Given the description of an element on the screen output the (x, y) to click on. 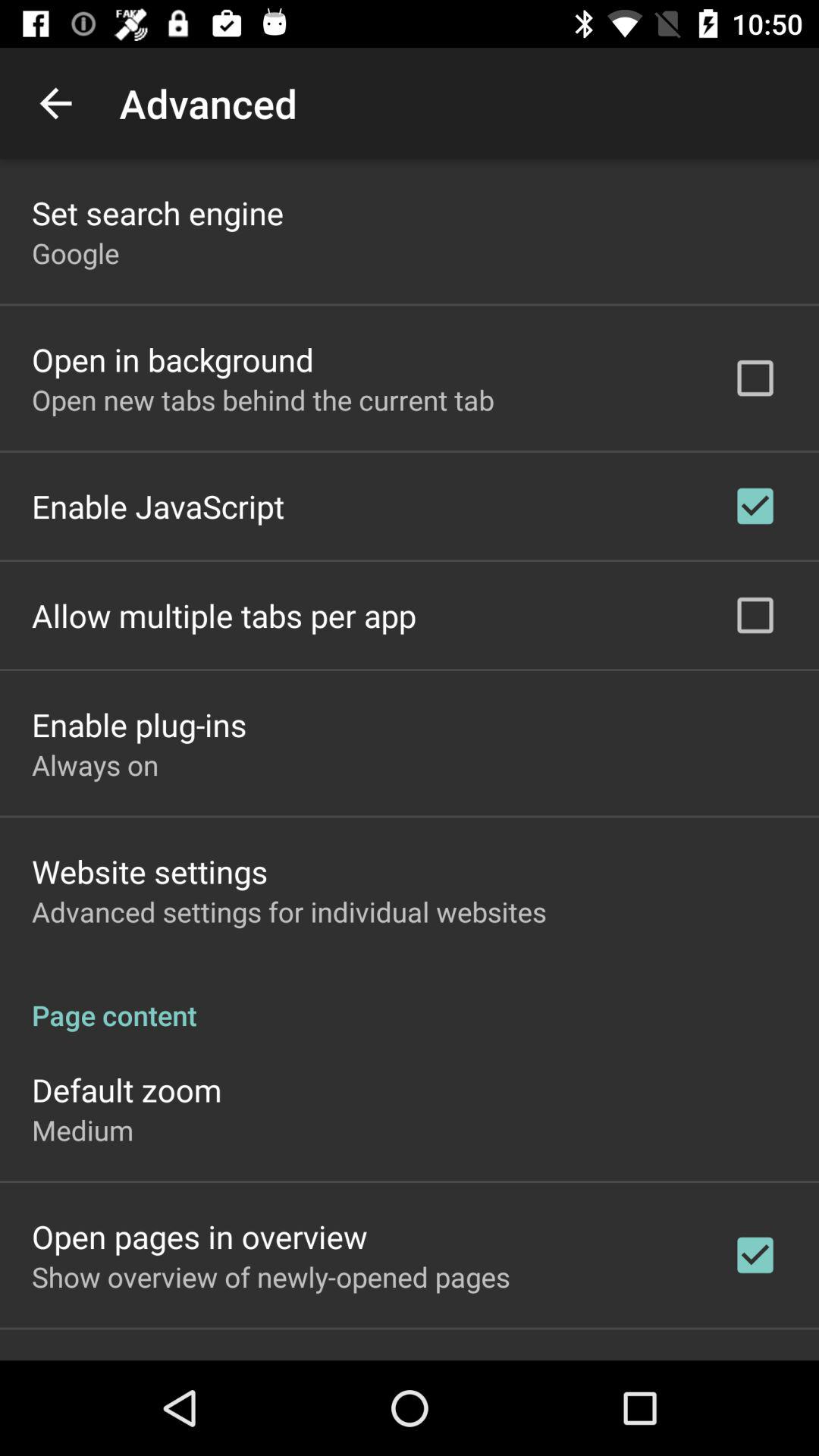
choose item to the left of advanced app (55, 103)
